Given the description of an element on the screen output the (x, y) to click on. 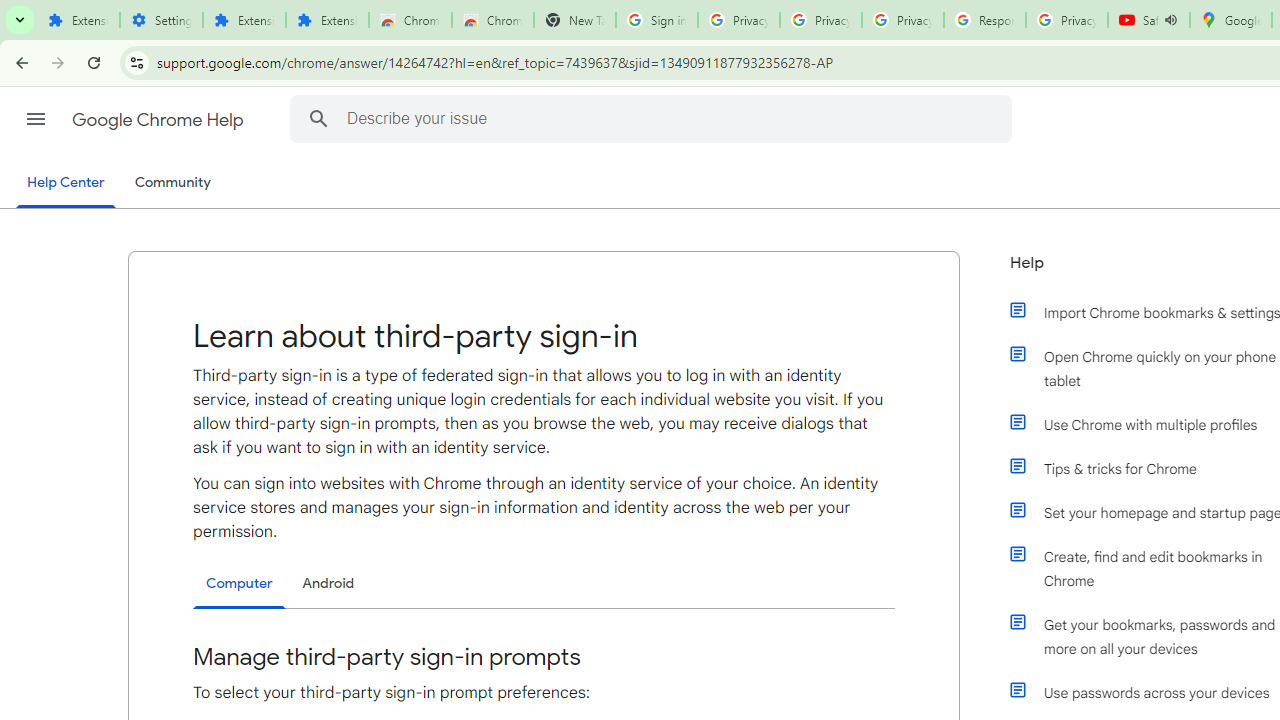
Chrome Web Store - Themes (492, 20)
